Given the description of an element on the screen output the (x, y) to click on. 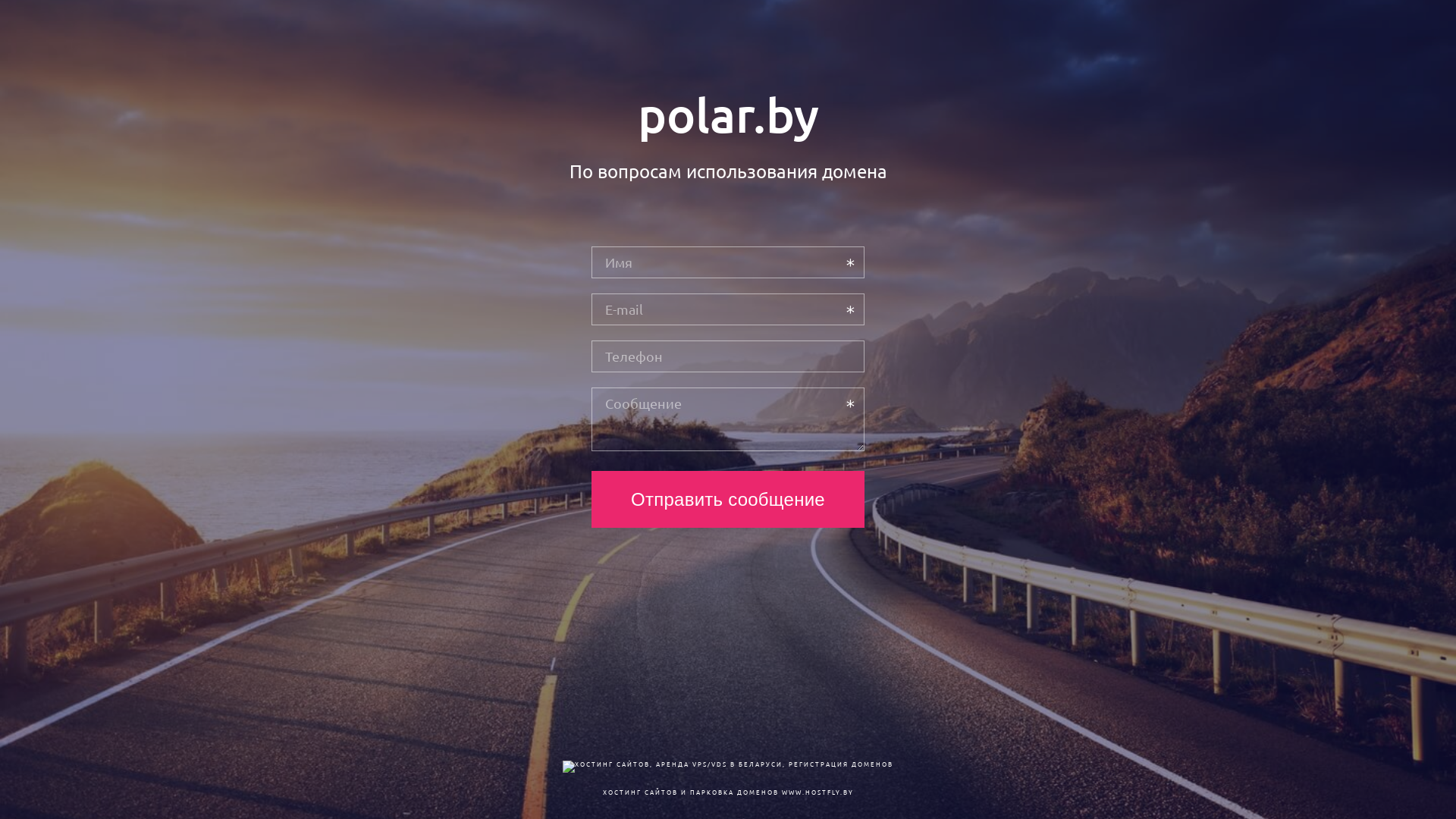
WWW.HOSTFLY.BY Element type: text (817, 791)
